Given the description of an element on the screen output the (x, y) to click on. 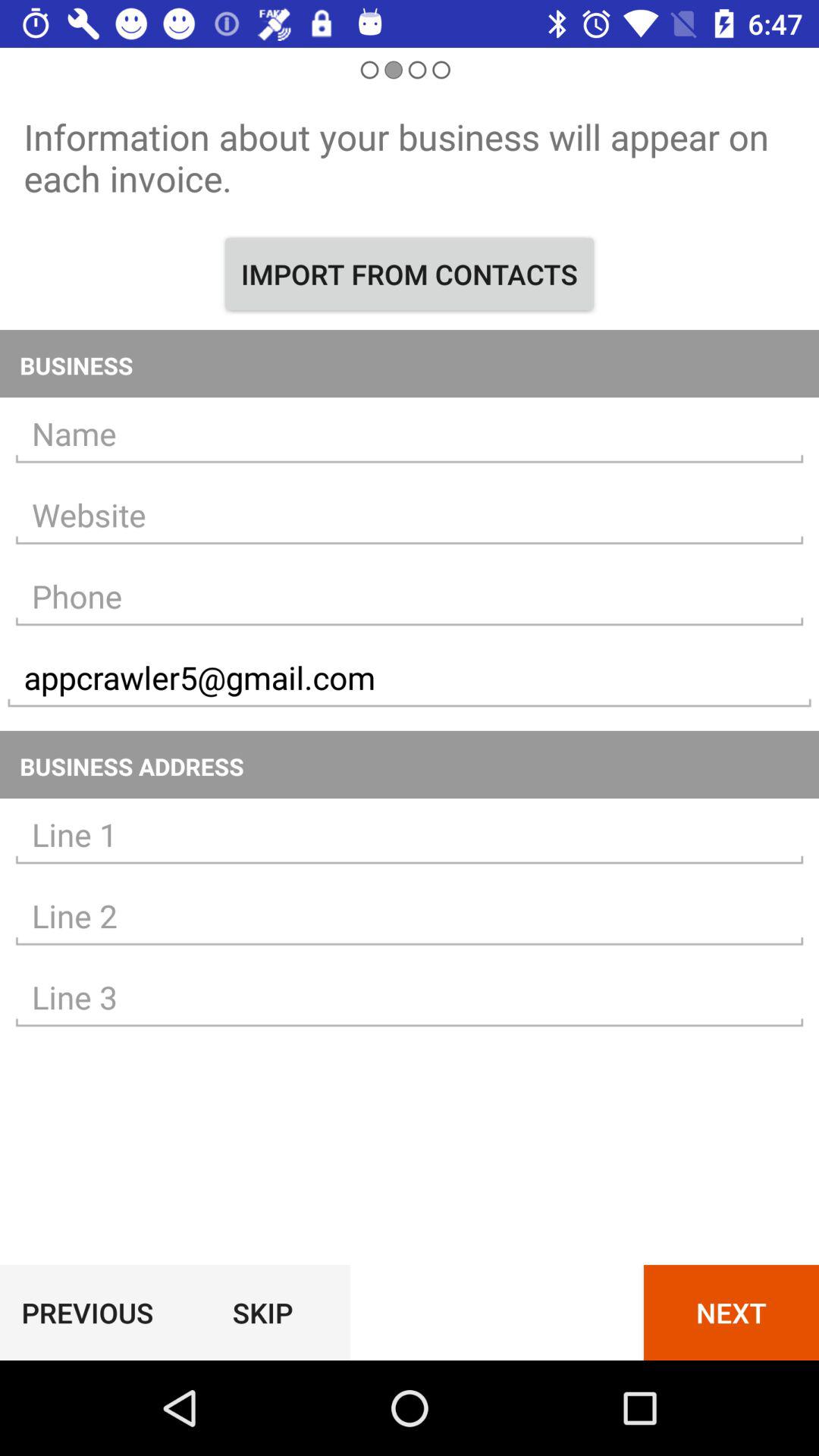
swipe until the import from contacts icon (409, 273)
